Given the description of an element on the screen output the (x, y) to click on. 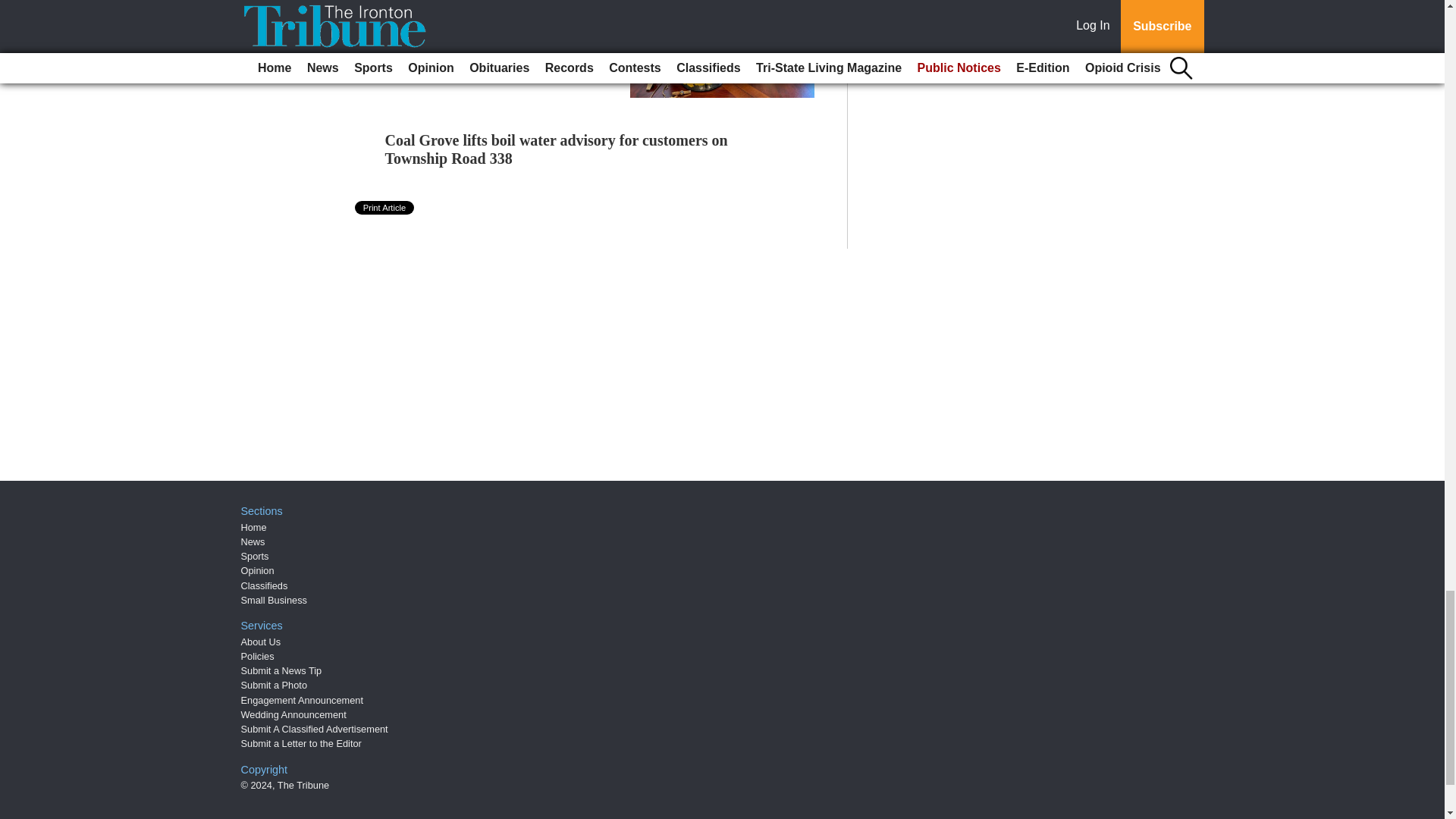
Print Article (384, 207)
Retired IPD chief Garland remembered (471, 15)
Retired IPD chief Garland remembered (471, 15)
News (252, 541)
Home (253, 527)
